Given the description of an element on the screen output the (x, y) to click on. 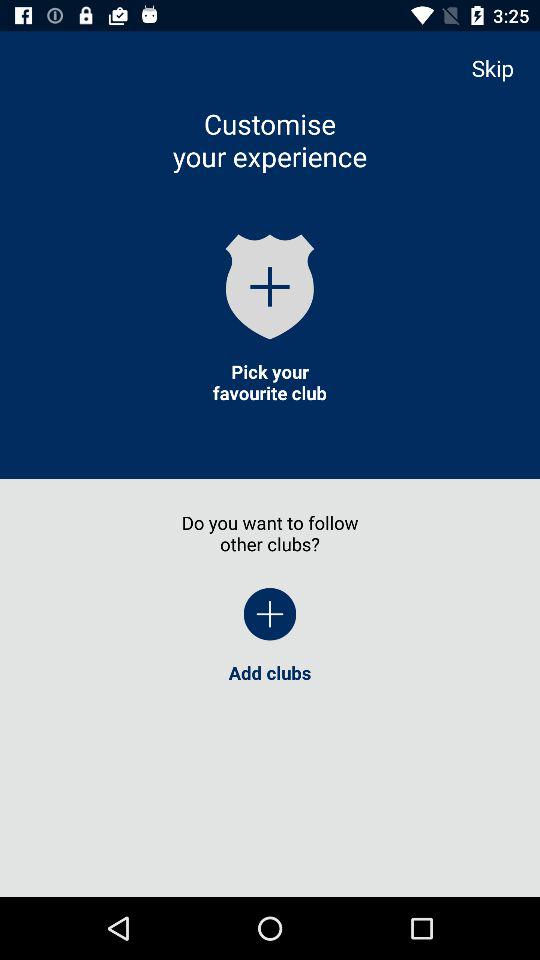
flip to skip app (502, 68)
